Given the description of an element on the screen output the (x, y) to click on. 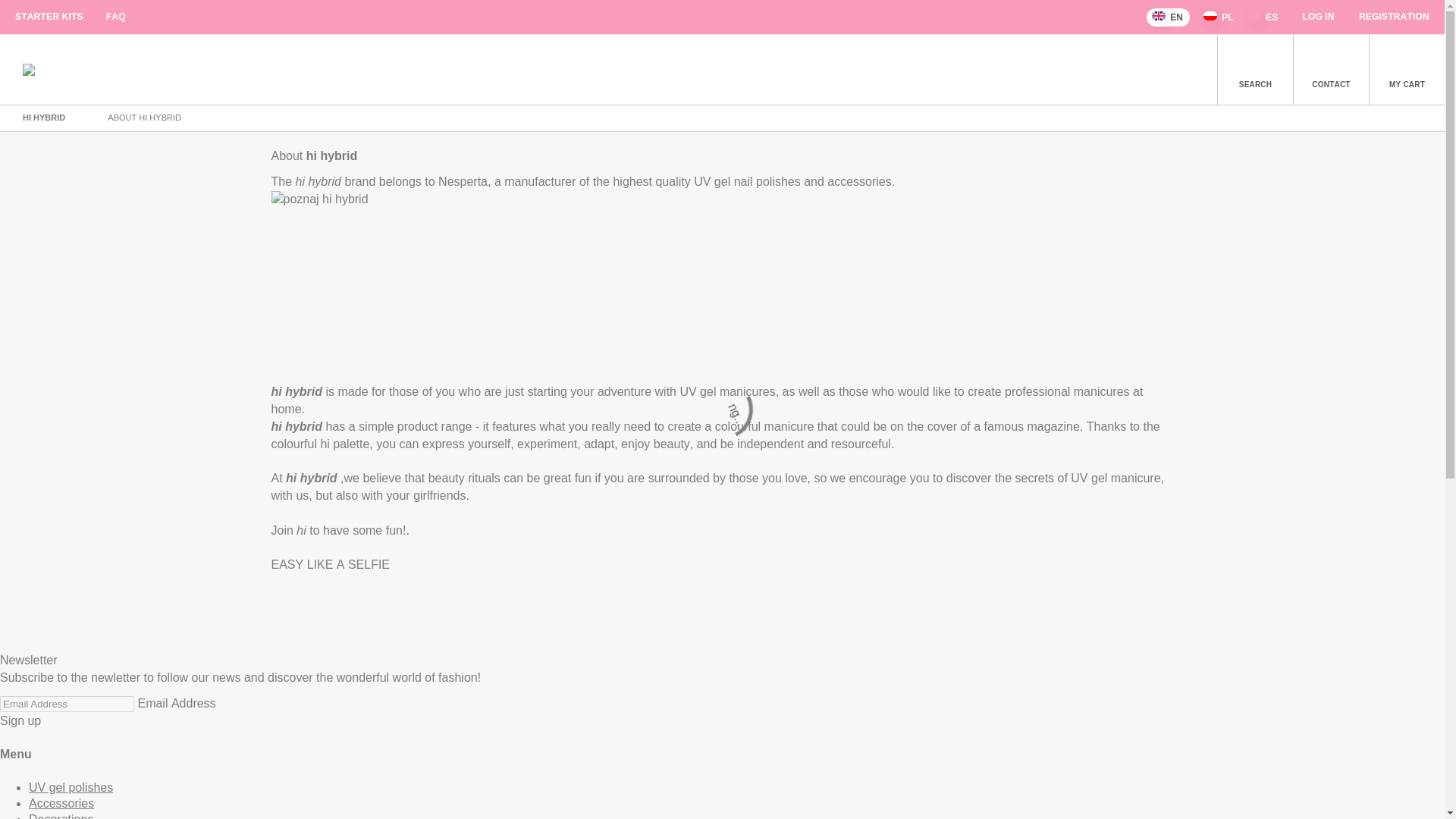
CONTACT (1330, 69)
Decorations (61, 816)
Hi Hybrid (44, 117)
UV gel polishes (71, 787)
HI HYBRID (44, 117)
Accessories (61, 802)
STARTER KITS (48, 16)
FAQ (115, 16)
PL (1219, 16)
hi hybrid (28, 69)
REGISTRATION (1393, 16)
ES (1263, 16)
HI HYBRID ABOUT HI HYBRID (722, 126)
LOG IN (1318, 16)
